Given the description of an element on the screen output the (x, y) to click on. 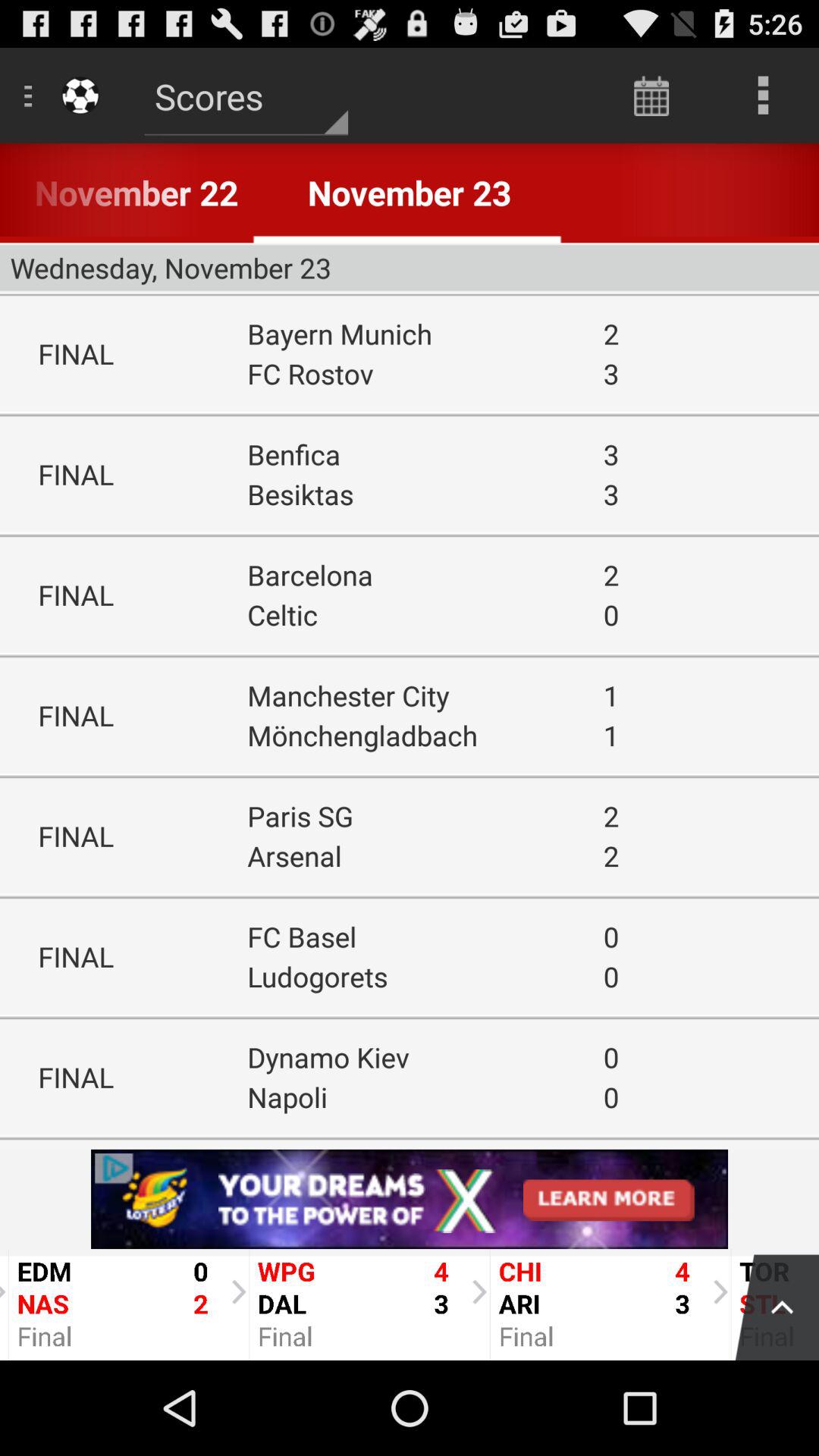
see calendar (651, 95)
